Given the description of an element on the screen output the (x, y) to click on. 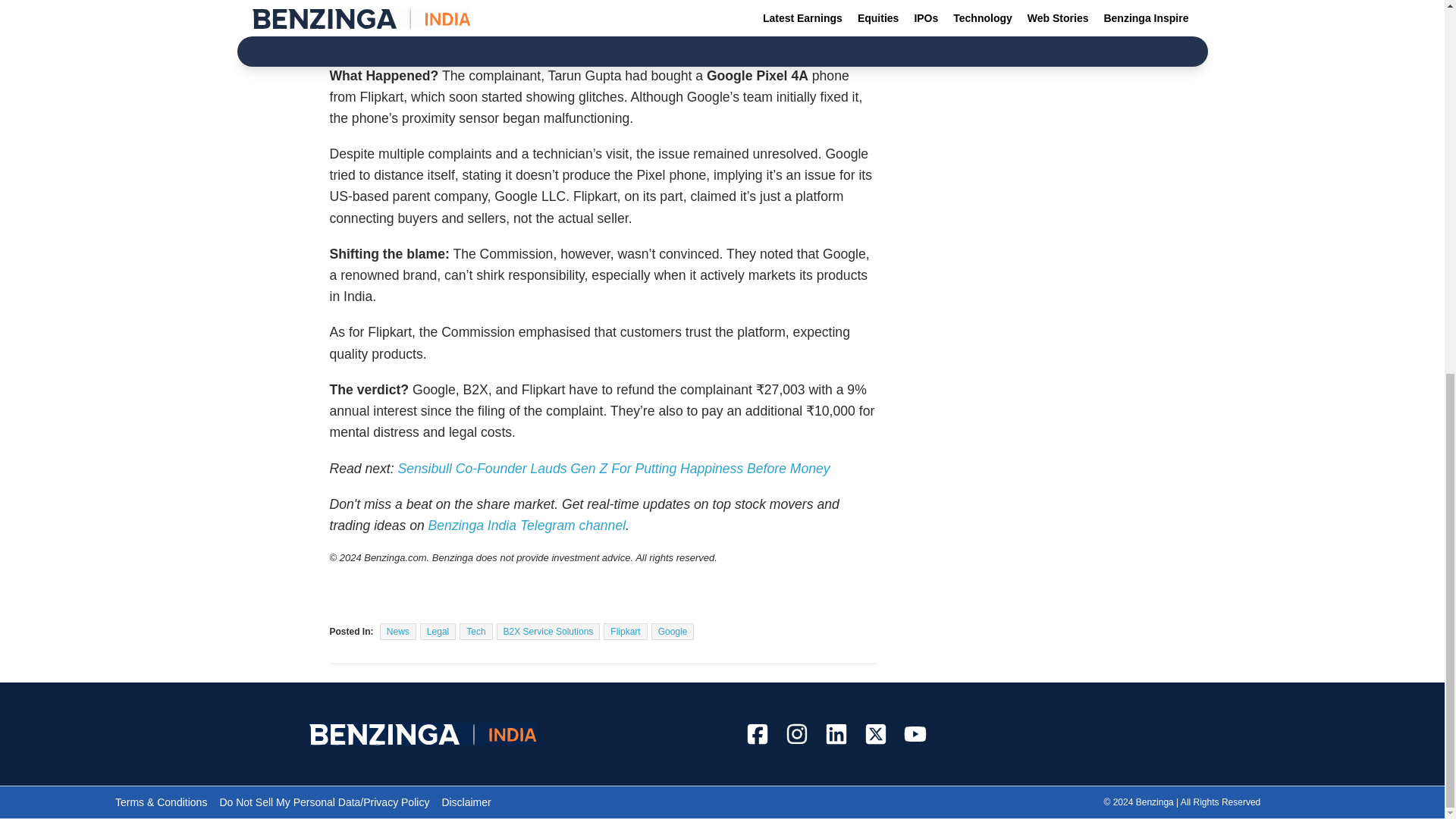
News (398, 631)
Tech (476, 631)
Google (672, 631)
Disclaimer (465, 802)
Legal (437, 631)
Flipkart (625, 631)
Benzinga India Telegram channel (527, 525)
B2X Service Solutions (547, 631)
